Given the description of an element on the screen output the (x, y) to click on. 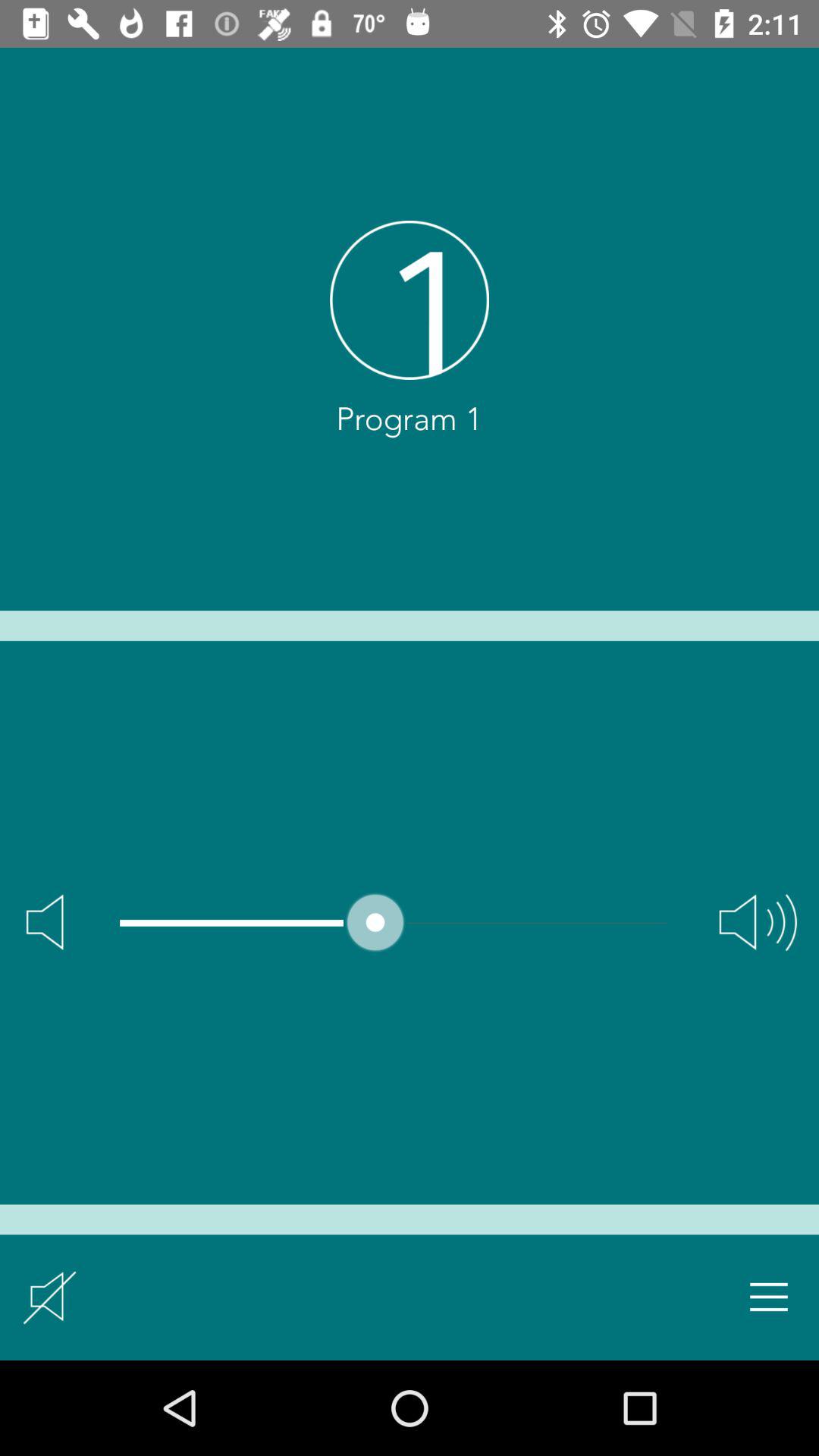
open setting (768, 1297)
